Given the description of an element on the screen output the (x, y) to click on. 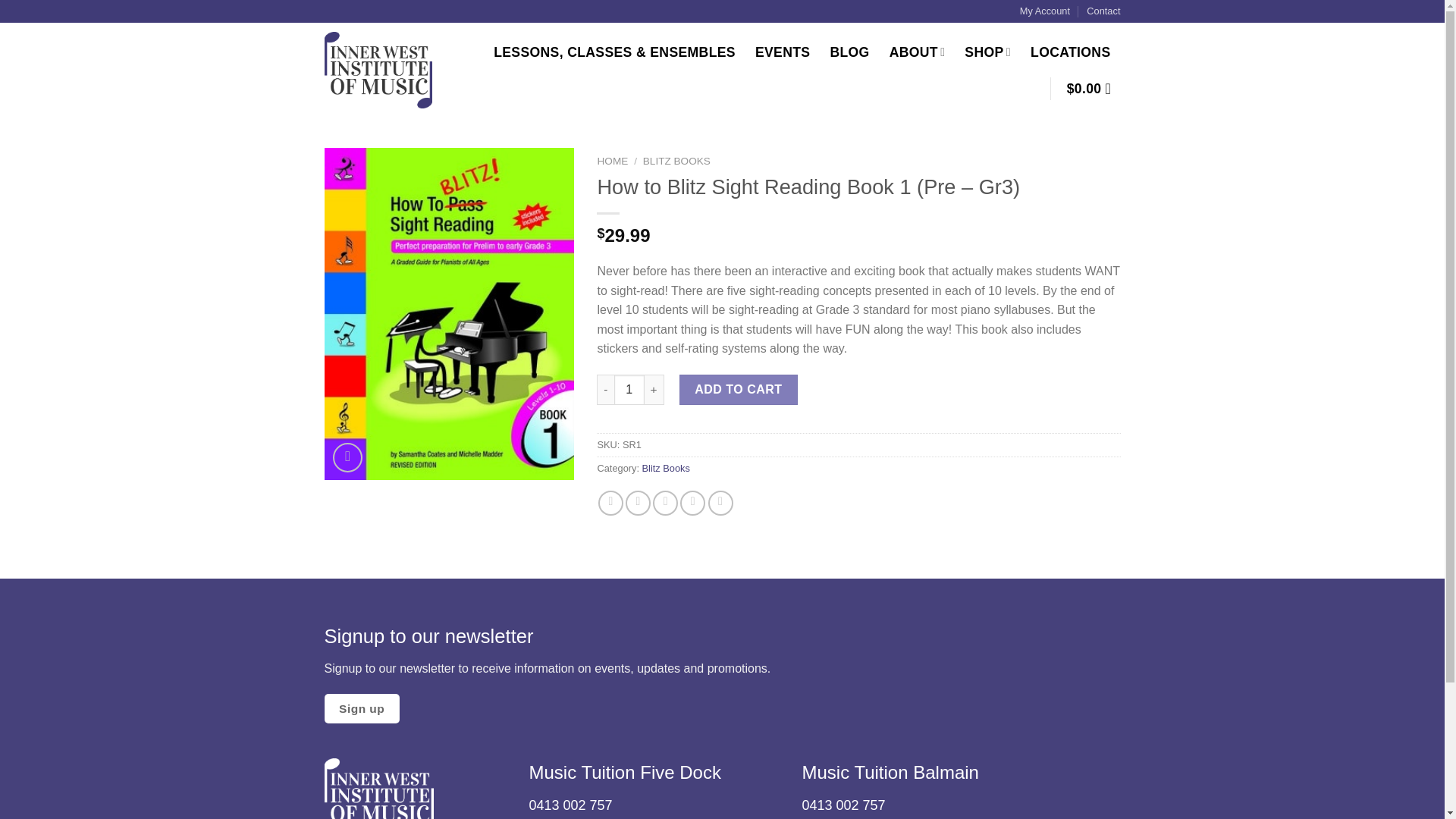
EVENTS (782, 52)
ABOUT (916, 52)
HOME (611, 161)
Share on LinkedIn (720, 502)
ADD TO CART (738, 389)
BLITZ BOOKS (676, 161)
Cart (1094, 88)
LOCATIONS (1069, 52)
My Account (1045, 11)
Pin on Pinterest (691, 502)
